Given the description of an element on the screen output the (x, y) to click on. 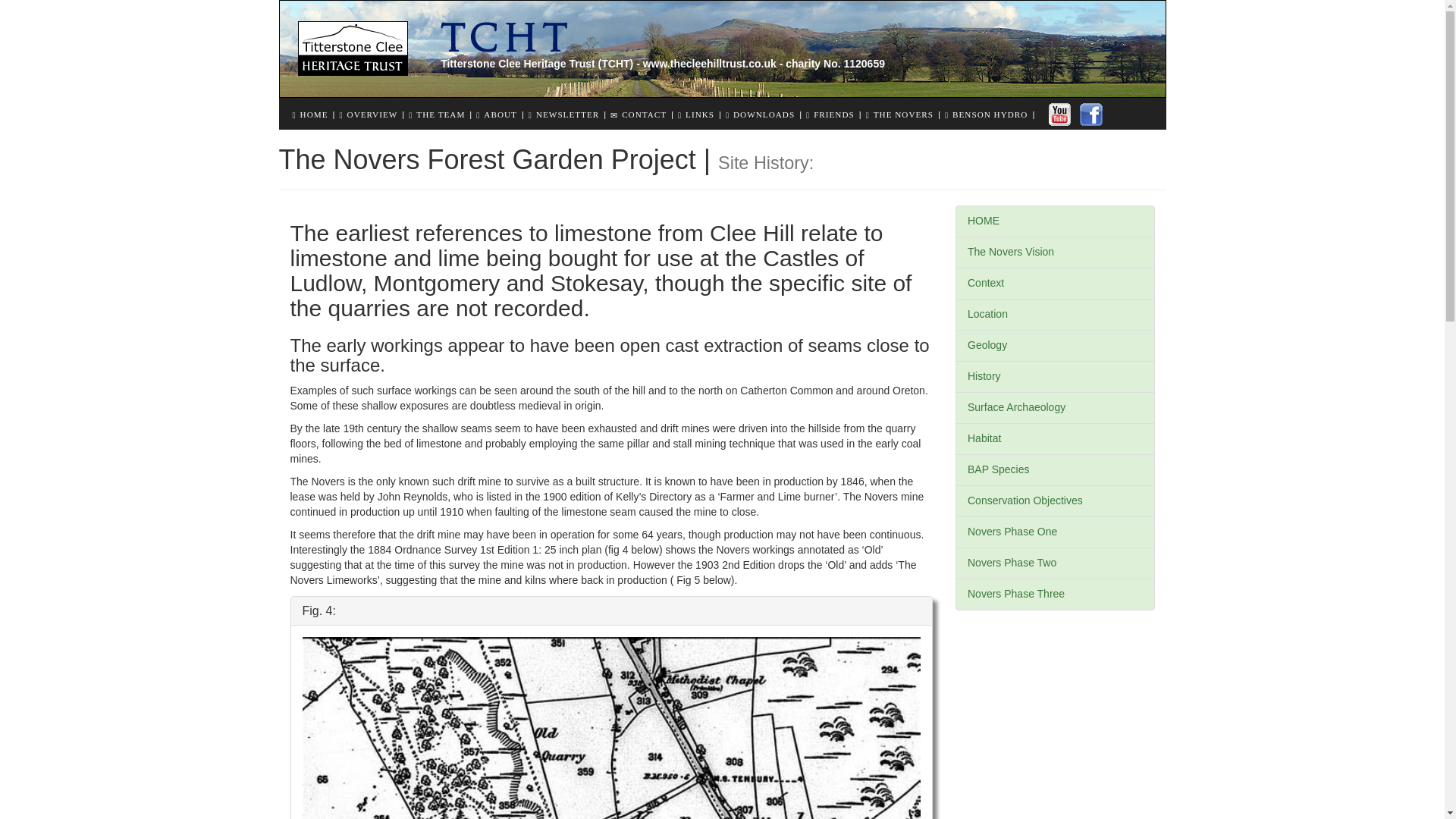
HOME (314, 113)
Location (1054, 314)
OVERVIEW (372, 113)
ABOUT (499, 113)
THE NOVERS (903, 113)
THE TEAM (440, 113)
Novers Phase One (1054, 531)
HOME (1054, 221)
LINKS (699, 113)
Geology (1054, 345)
Novers Phase Three (1054, 594)
FRIENDS (833, 113)
The Novers Vision (1054, 252)
BENSON HYDRO (989, 113)
BAP Species (1054, 470)
